Given the description of an element on the screen output the (x, y) to click on. 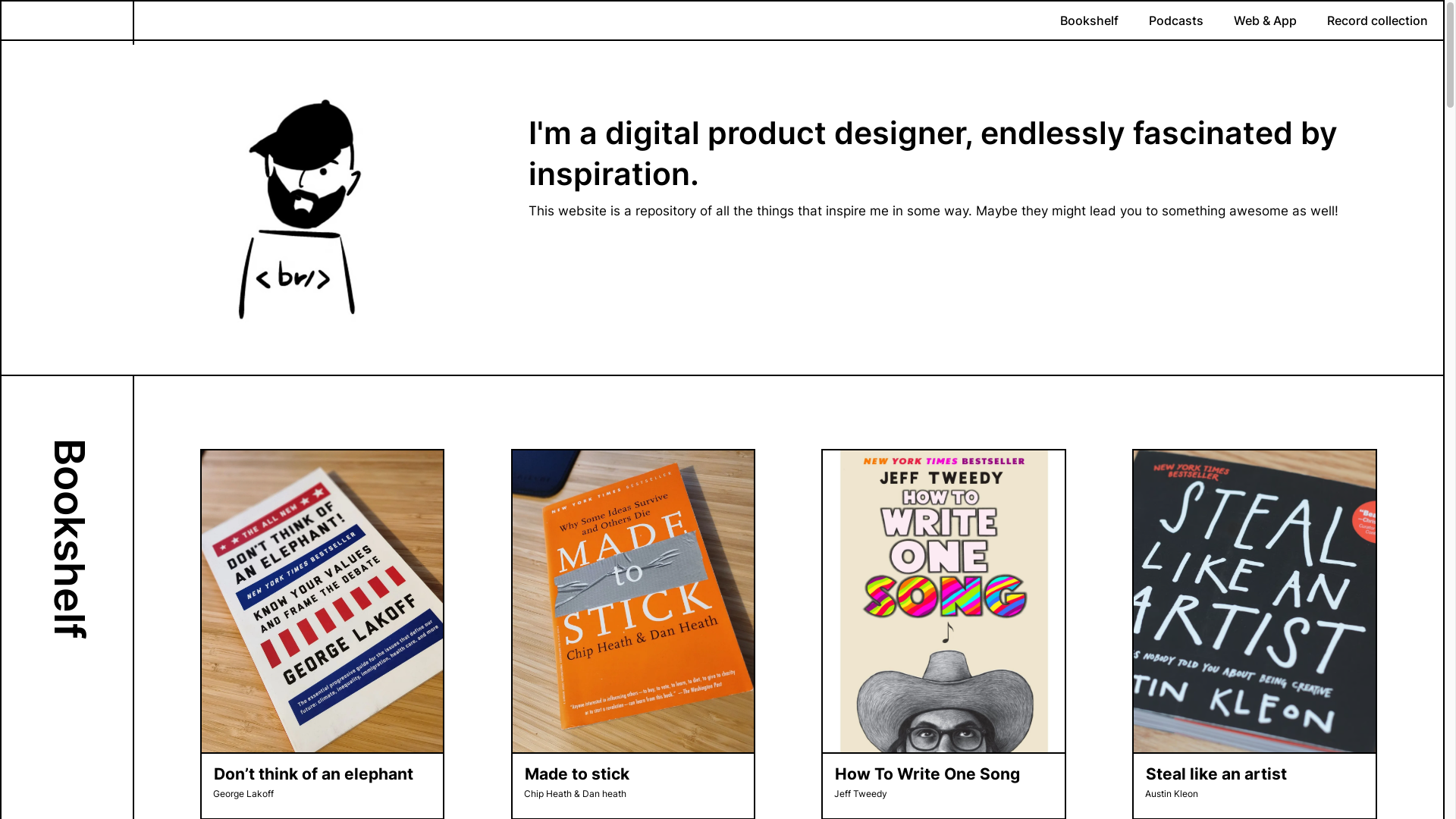
Podcasts Element type: text (1175, 20)
Record collection Element type: text (1377, 20)
Bookshelf Element type: text (1088, 20)
Web & App Element type: text (1264, 20)
